Given the description of an element on the screen output the (x, y) to click on. 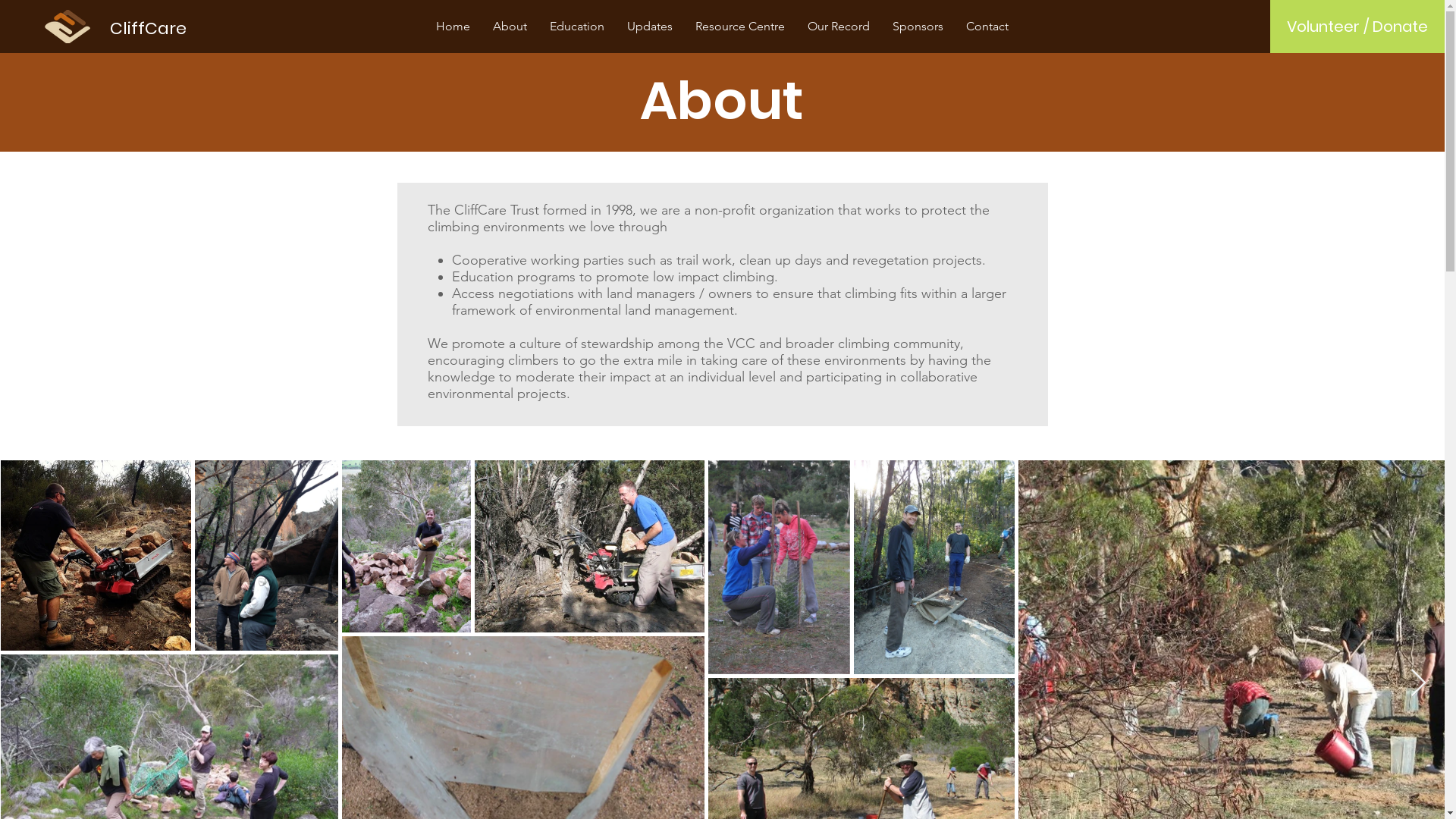
Education Element type: text (576, 26)
Contact Element type: text (986, 26)
About Element type: text (509, 26)
Resource Centre Element type: text (740, 26)
Volunteer / Donate Element type: text (1357, 26)
Home Element type: text (452, 26)
Sponsors Element type: text (917, 26)
Updates Element type: text (649, 26)
CliffCare Element type: text (147, 28)
Our Record Element type: text (838, 26)
